Given the description of an element on the screen output the (x, y) to click on. 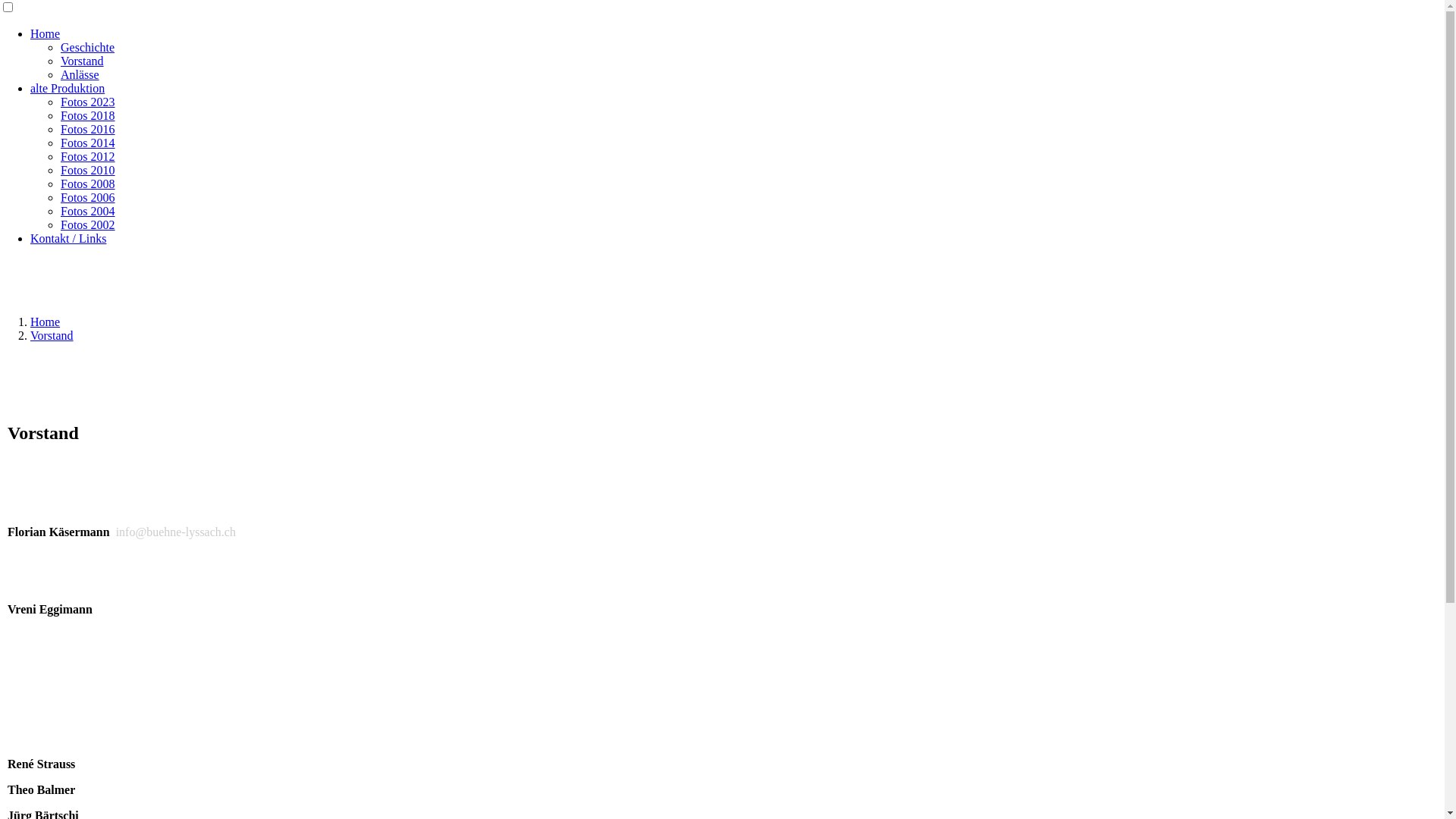
Fotos 2012 Element type: text (87, 156)
Vorstand Element type: text (51, 335)
Geschichte Element type: text (87, 46)
Fotos 2023 Element type: text (87, 101)
Fotos 2010 Element type: text (87, 169)
Fotos 2018 Element type: text (87, 115)
Fotos 2008 Element type: text (87, 183)
Home Element type: text (44, 321)
Fotos 2002 Element type: text (87, 224)
Fotos 2004 Element type: text (87, 210)
Fotos 2014 Element type: text (87, 142)
alte Produktion Element type: text (67, 87)
Home Element type: text (44, 33)
Fotos 2006 Element type: text (87, 197)
Fotos 2016 Element type: text (87, 128)
Vorstand Element type: text (81, 60)
Kontakt / Links Element type: text (68, 238)
